Given the description of an element on the screen output the (x, y) to click on. 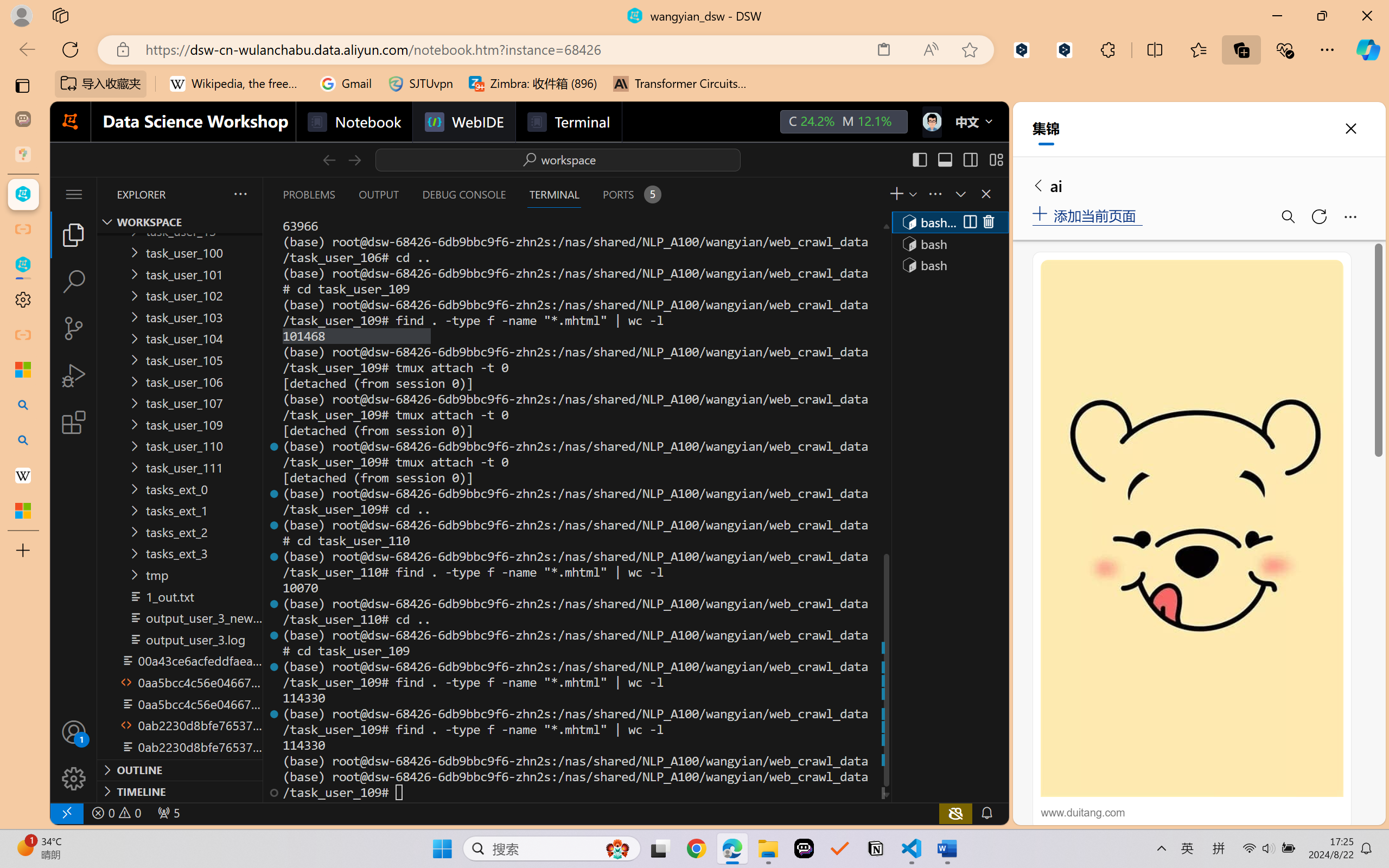
Kill (Delete) (987, 221)
Go Back (Alt+LeftArrow) (329, 159)
Terminal actions (812, 194)
Outline Section (179, 769)
Launch Profile... (911, 193)
Explorer actions (211, 194)
wangyian_webcrawler - DSW (22, 264)
Split (Ctrl+Shift+5) (968, 221)
Search (Ctrl+Shift+F) (73, 281)
